Given the description of an element on the screen output the (x, y) to click on. 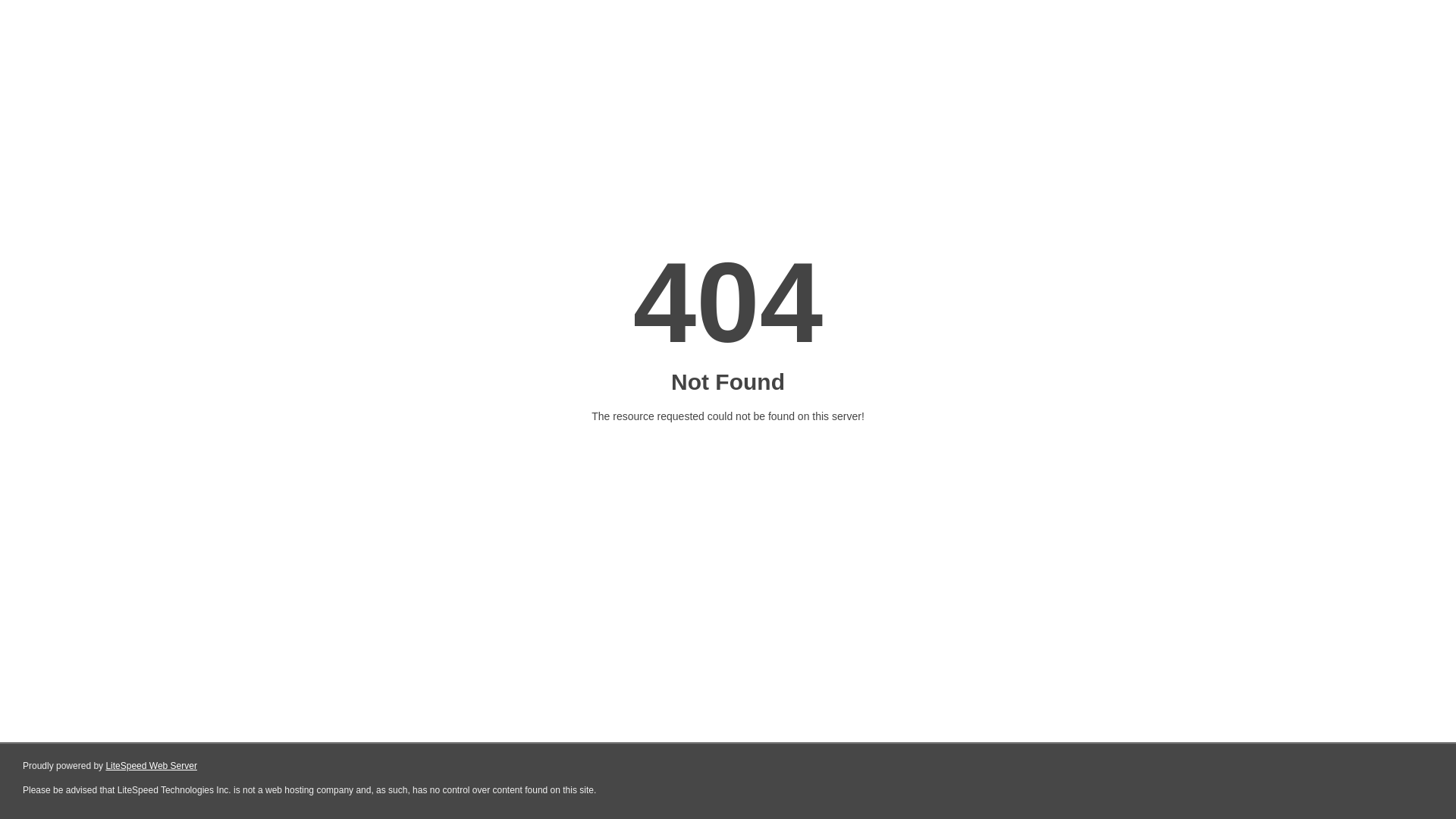
LiteSpeed Web Server Element type: text (151, 765)
